Given the description of an element on the screen output the (x, y) to click on. 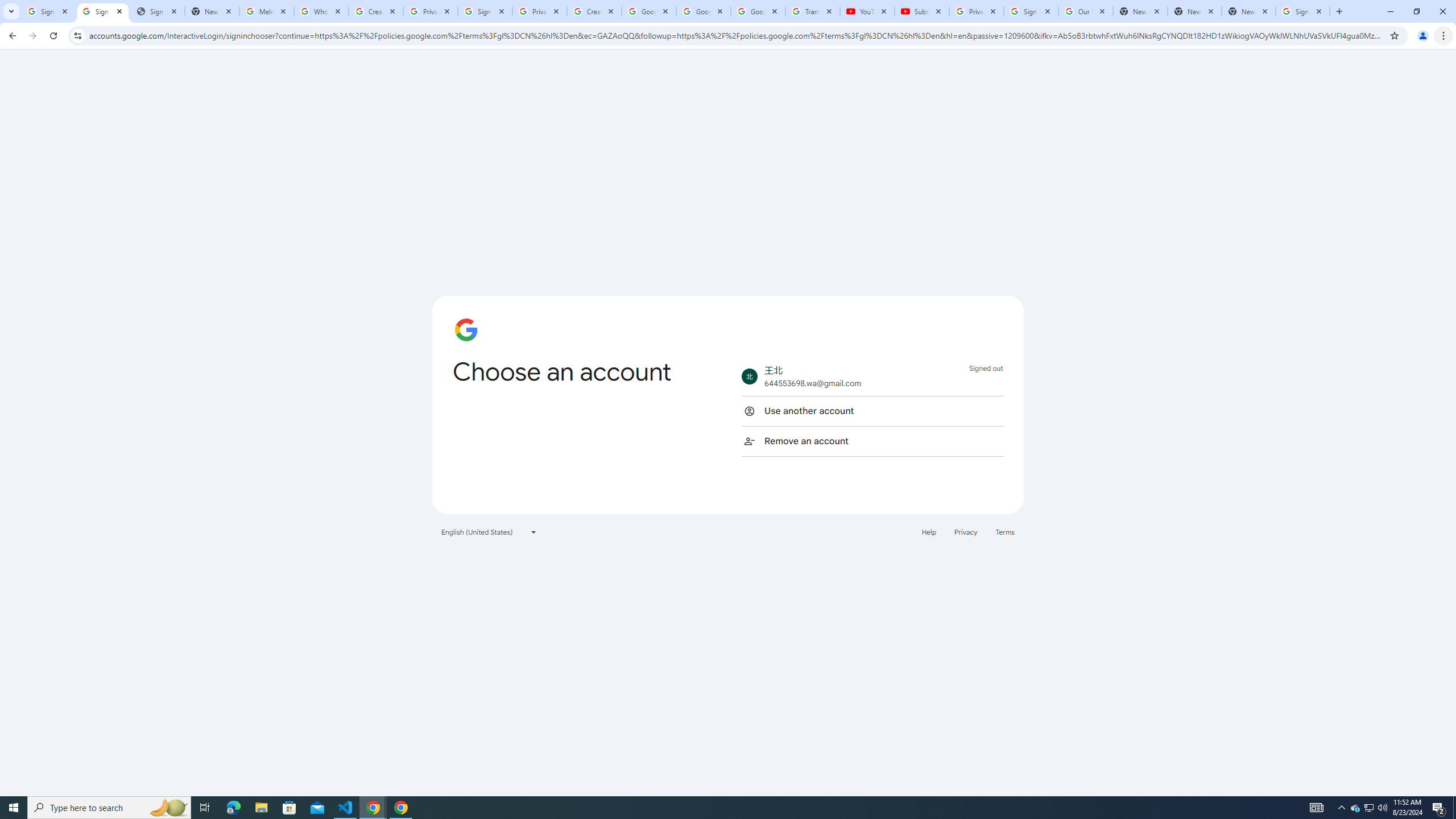
Privacy (965, 531)
Sign in - Google Accounts (102, 11)
Sign in - Google Accounts (484, 11)
Google Account (757, 11)
Sign in - Google Accounts (1030, 11)
Create your Google Account (594, 11)
